Given the description of an element on the screen output the (x, y) to click on. 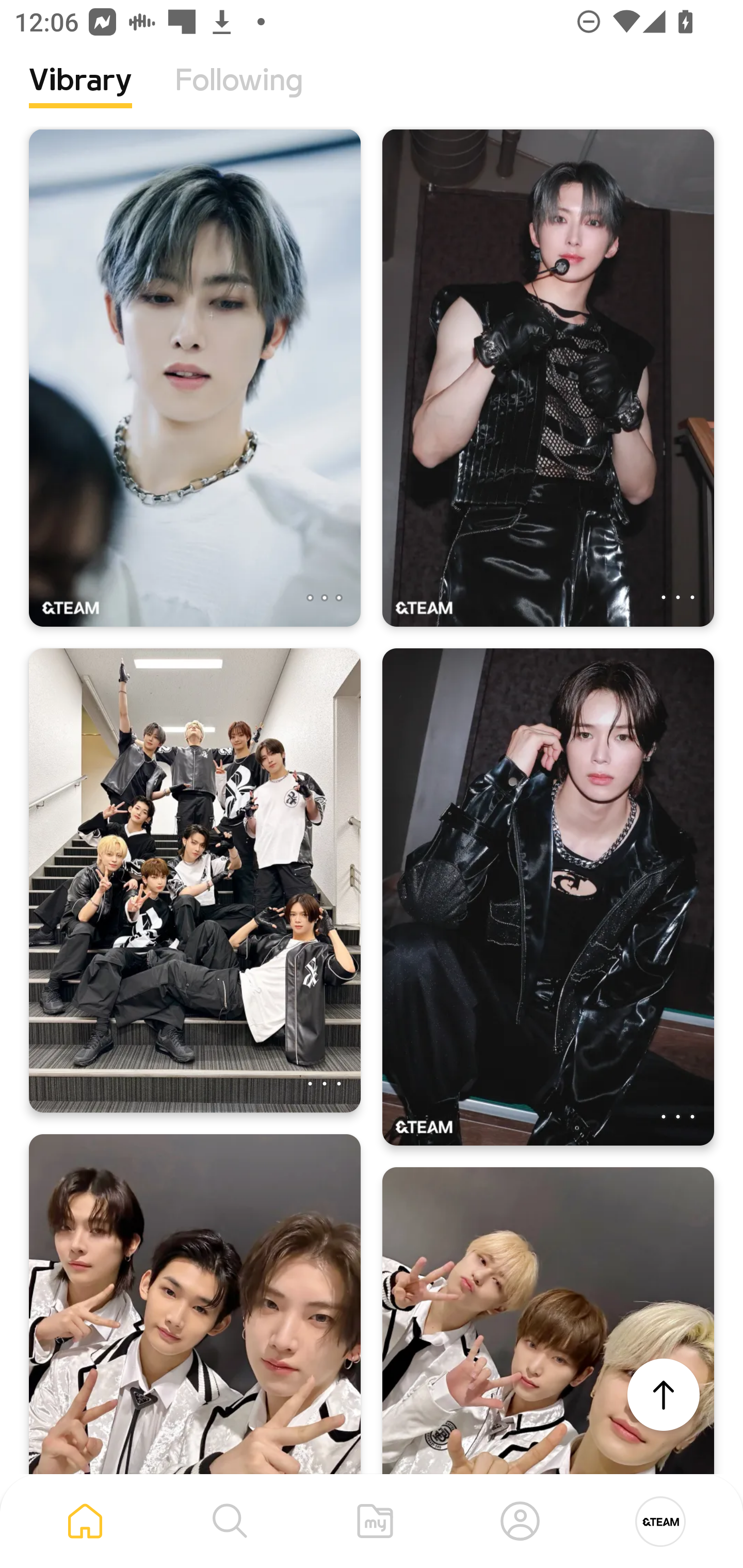
Vibrary (80, 95)
Following (239, 95)
